Given the description of an element on the screen output the (x, y) to click on. 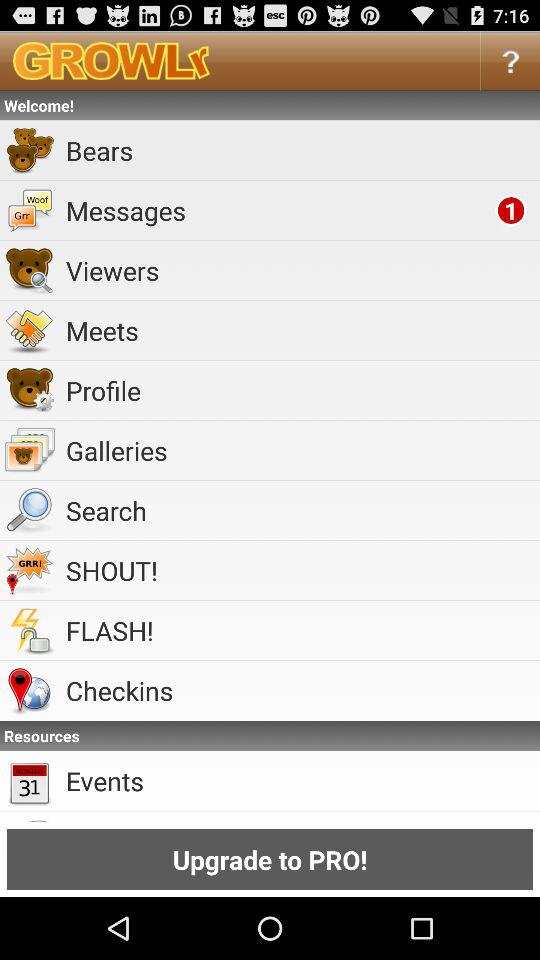
flip until galleries (299, 450)
